Given the description of an element on the screen output the (x, y) to click on. 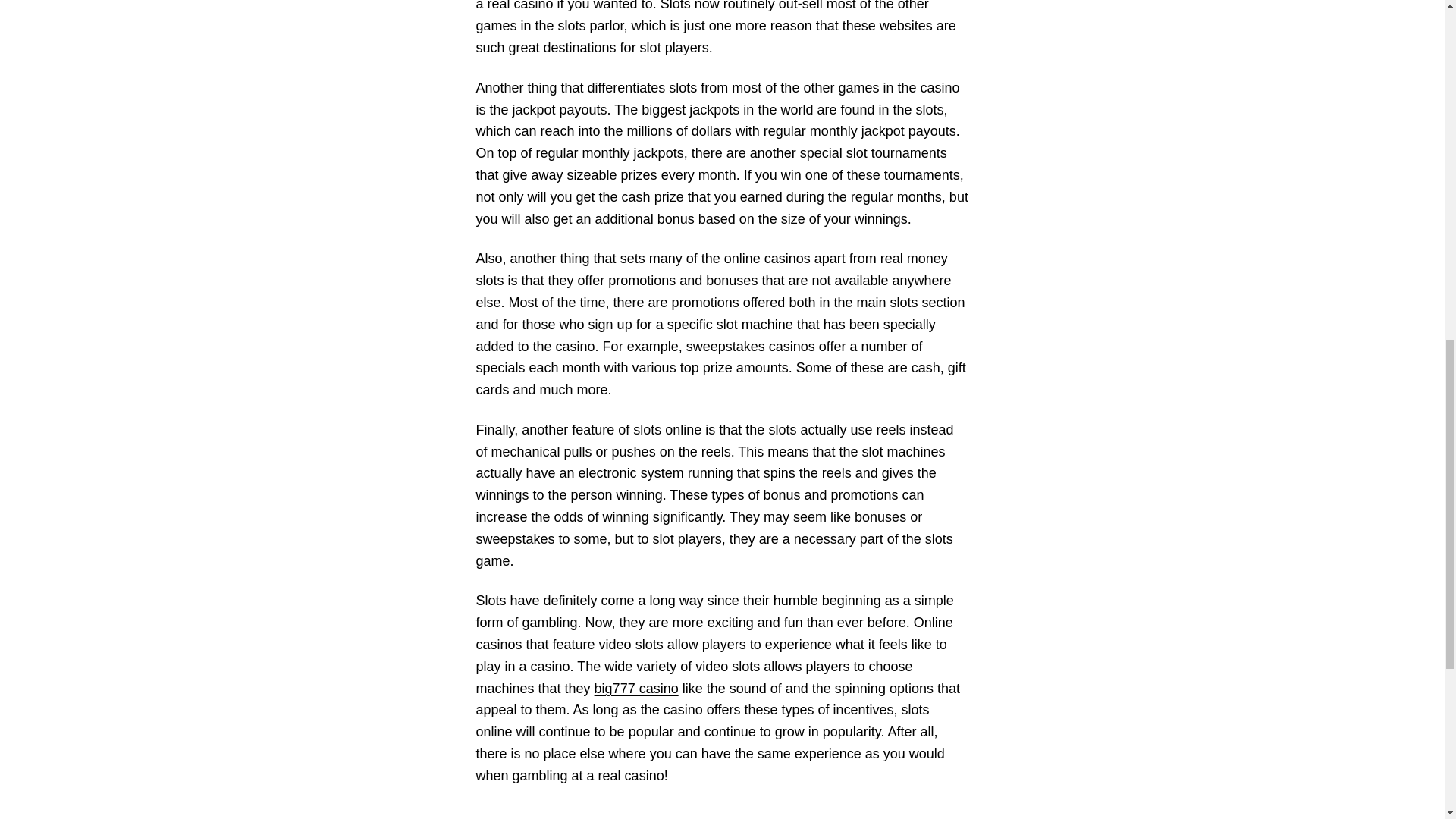
big777 casino (636, 688)
